Given the description of an element on the screen output the (x, y) to click on. 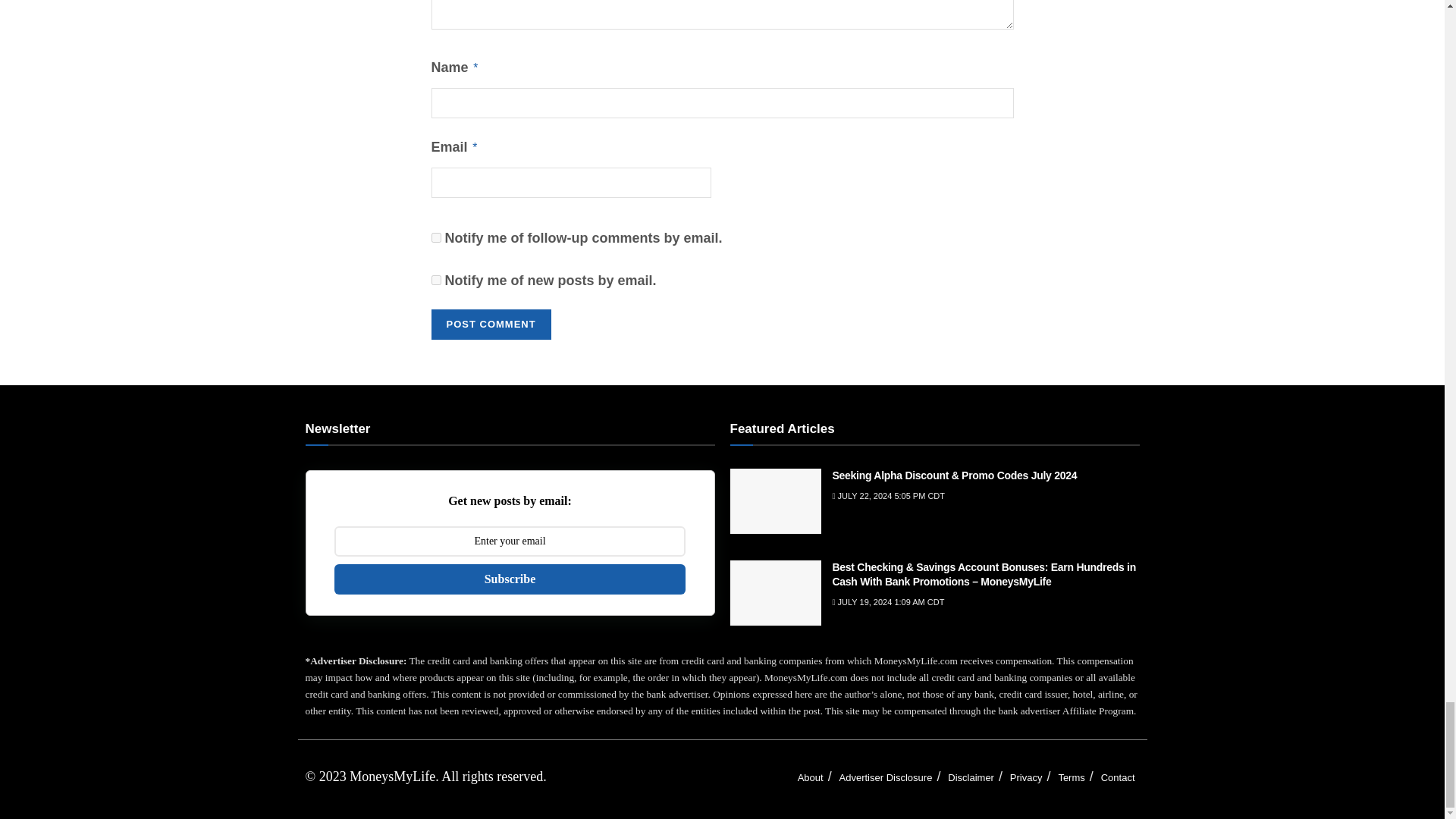
subscribe (435, 237)
subscribe (435, 280)
Post Comment (490, 324)
